Given the description of an element on the screen output the (x, y) to click on. 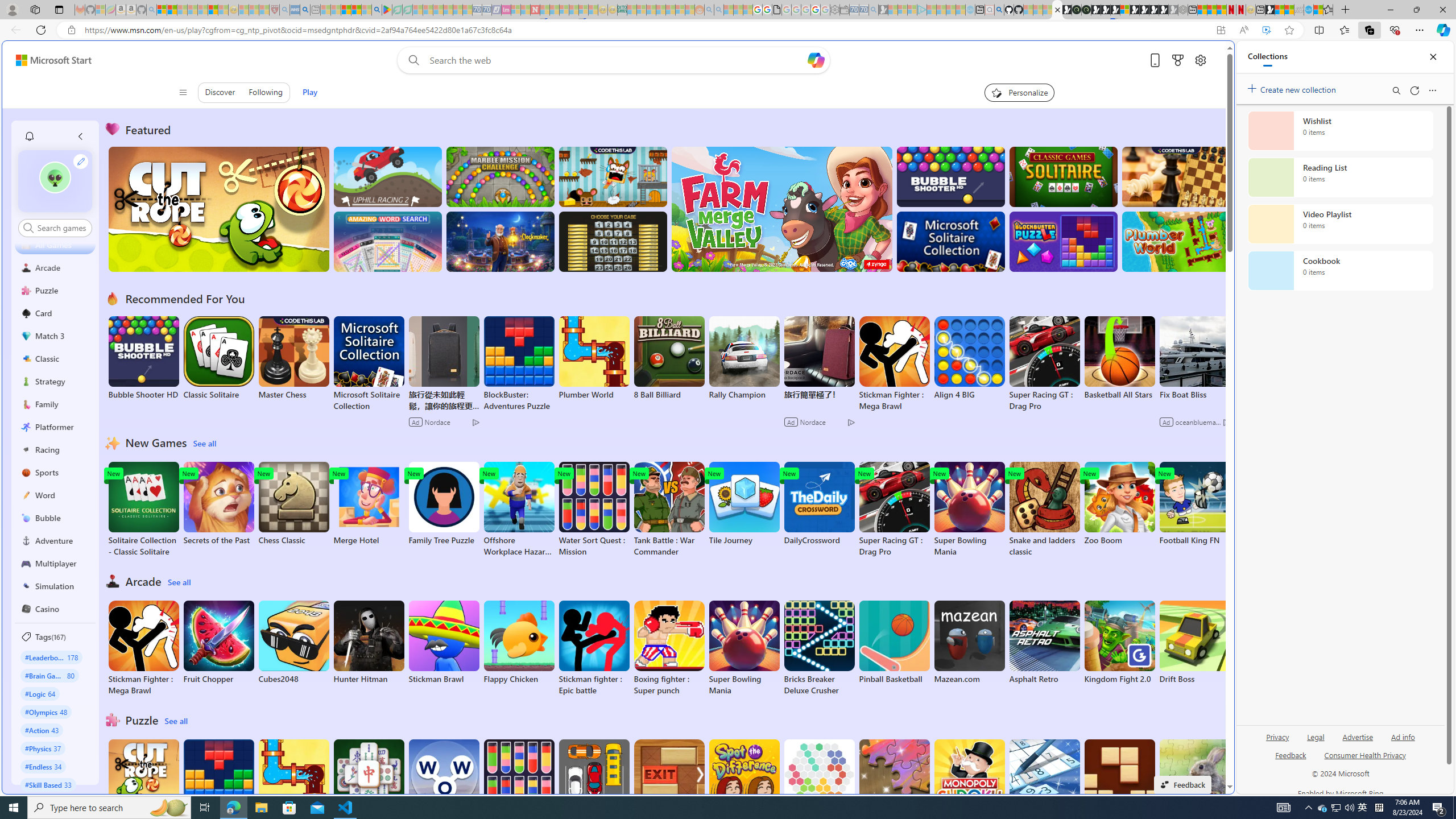
See all (176, 720)
Football King FN (1194, 503)
Class: notification-item (28, 136)
